Given the description of an element on the screen output the (x, y) to click on. 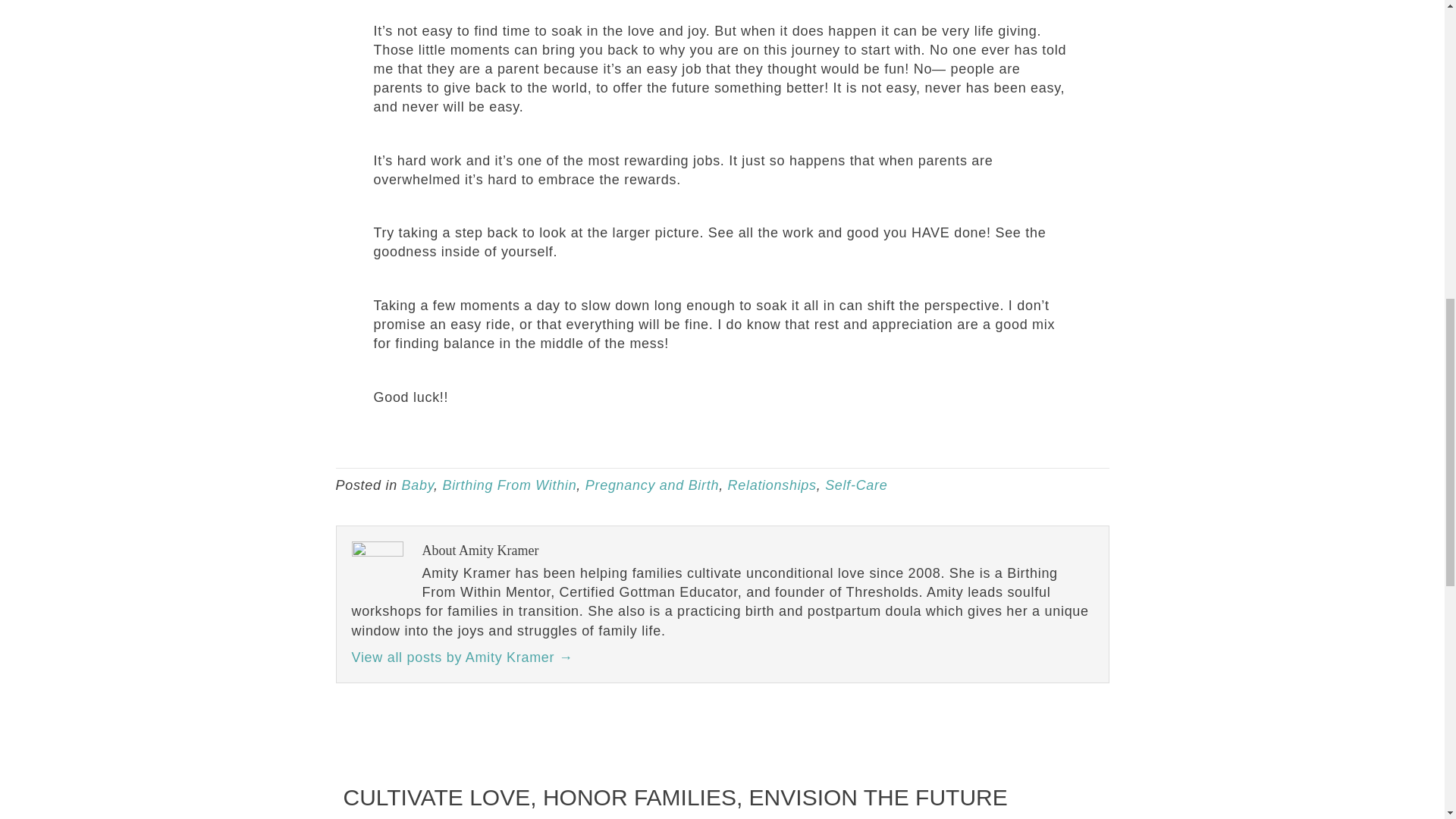
Birthing From Within (509, 485)
Pregnancy and Birth (652, 485)
Relationships (772, 485)
Baby (417, 485)
Self-Care (855, 485)
